Given the description of an element on the screen output the (x, y) to click on. 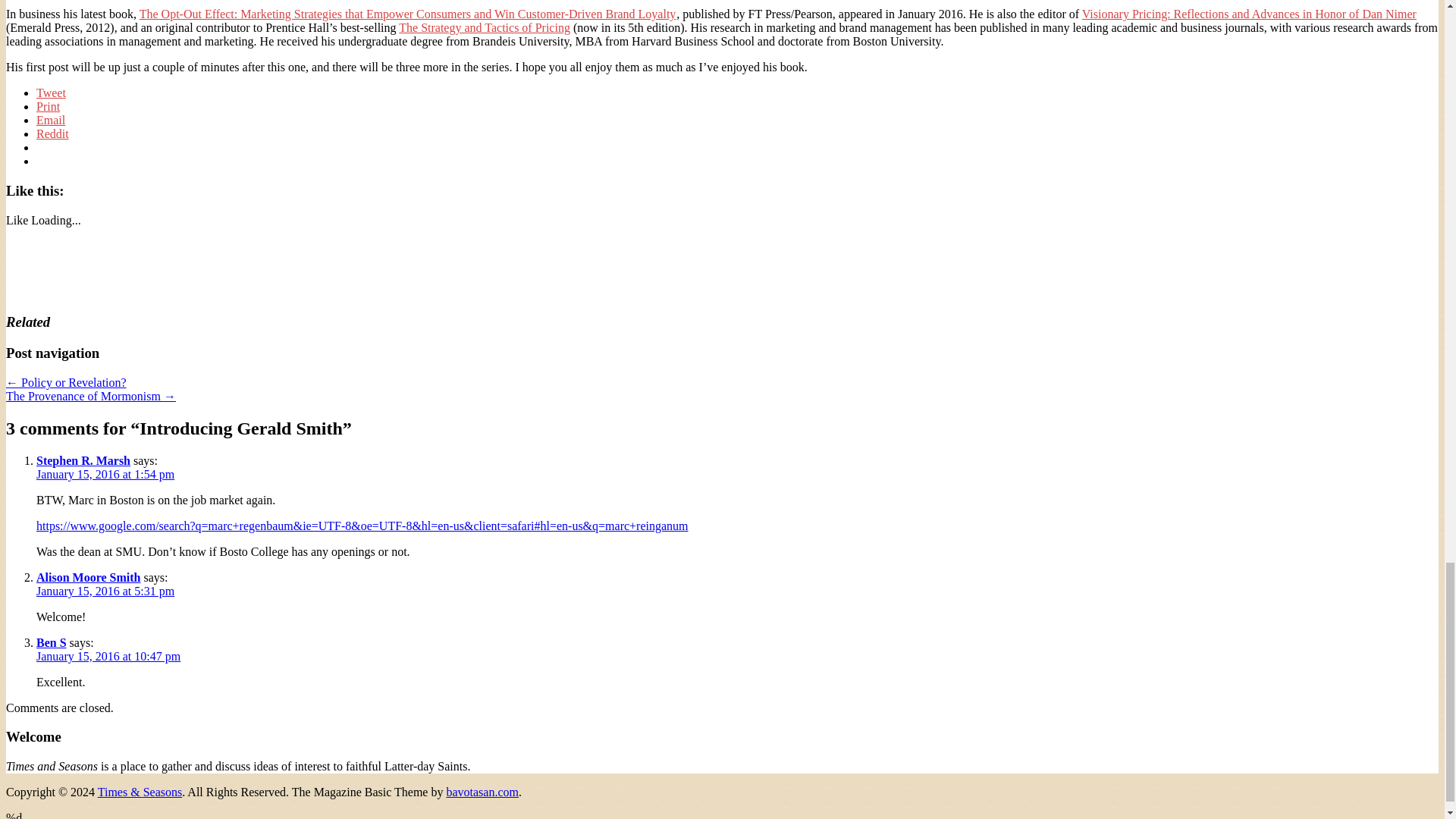
The Strategy and Tactics of Pricing (484, 27)
Click to share on Reddit (52, 133)
January 15, 2016 at 1:54 pm (105, 473)
Stephen R. Marsh (83, 460)
Click to print (47, 106)
Print (47, 106)
Click to email a link to a friend (50, 119)
Email (50, 119)
January 15, 2016 at 10:47 pm (108, 656)
Ben S (51, 642)
Alison Moore Smith (87, 576)
bavotasan.com (481, 791)
January 15, 2016 at 5:31 pm (105, 590)
